Given the description of an element on the screen output the (x, y) to click on. 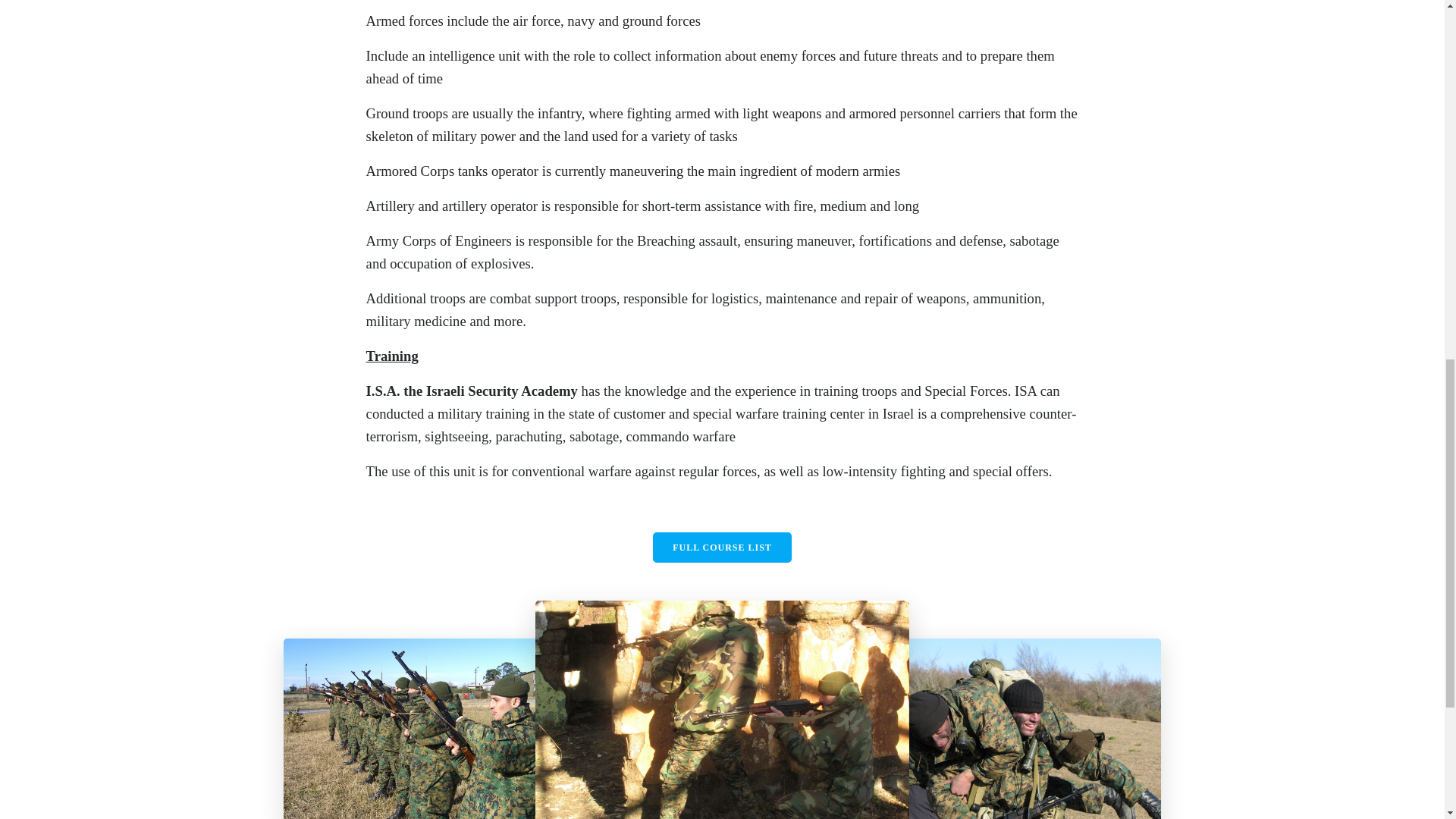
FULL COURSE LIST (722, 547)
